Given the description of an element on the screen output the (x, y) to click on. 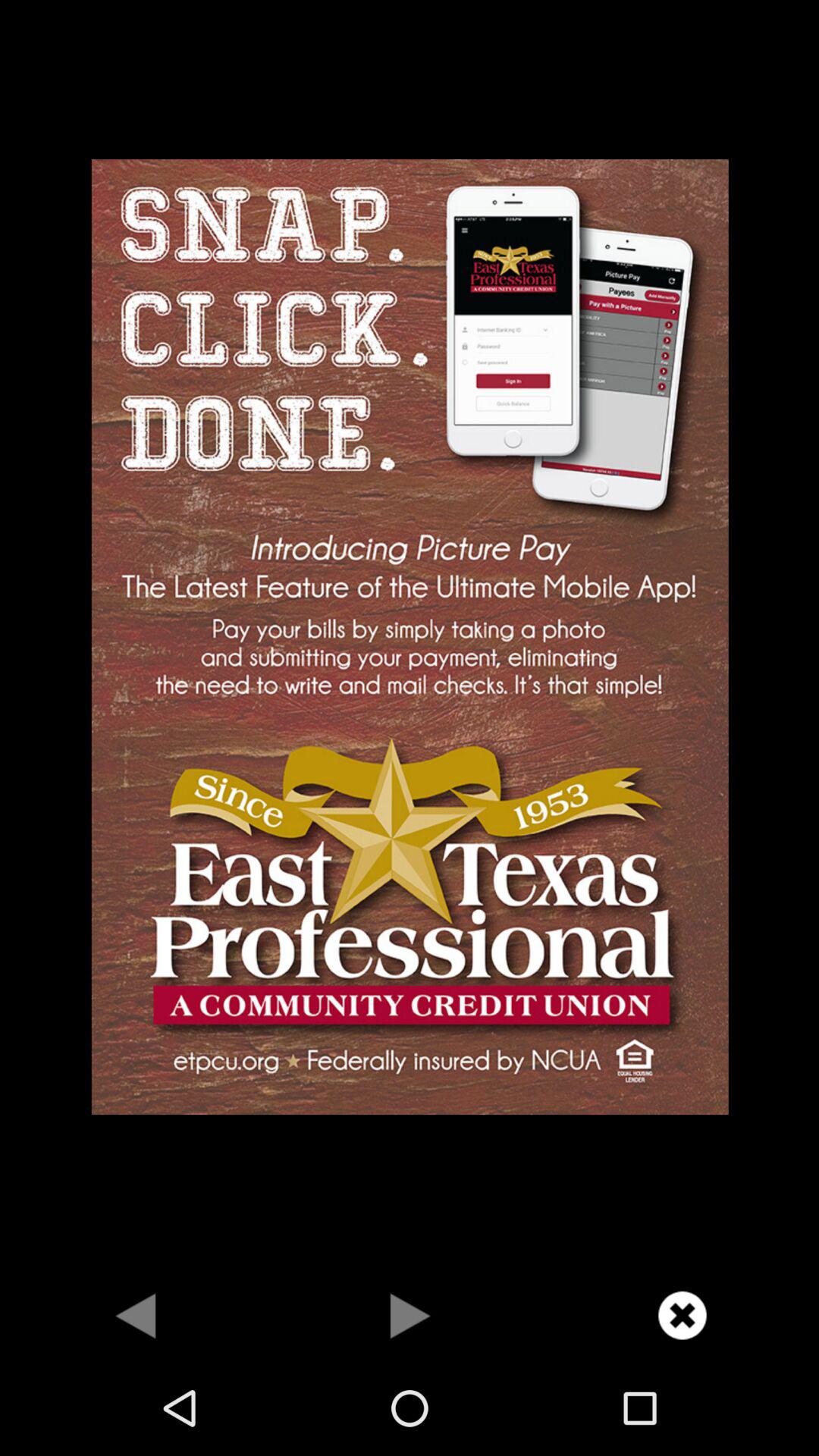
go to next (409, 1315)
